Given the description of an element on the screen output the (x, y) to click on. 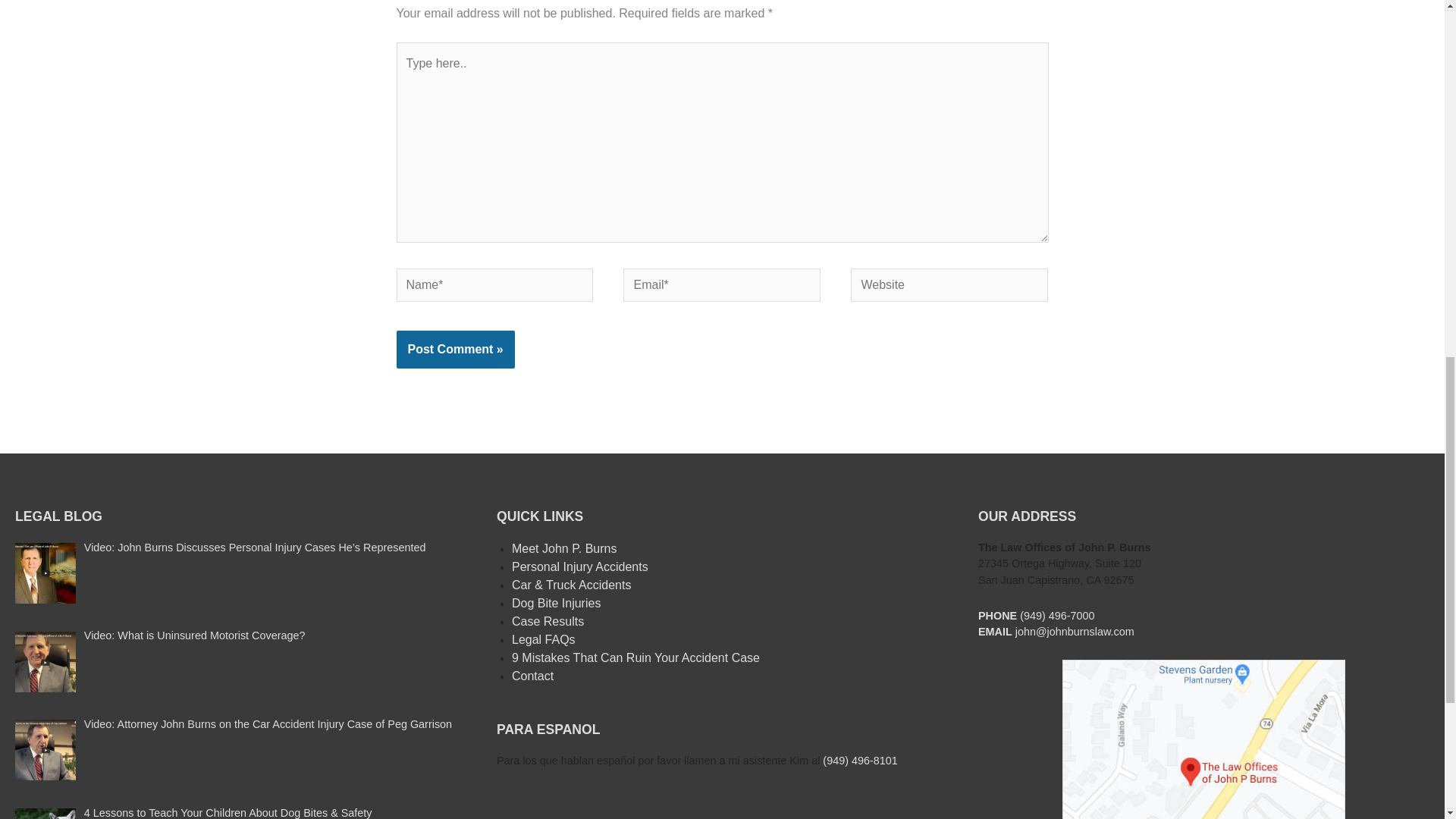
Dog Bite Injuries (555, 603)
Video: What is Uninsured Motorist Coverage? (194, 635)
Personal Injury Accidents (579, 566)
Meet John P. Burns (563, 548)
